Given the description of an element on the screen output the (x, y) to click on. 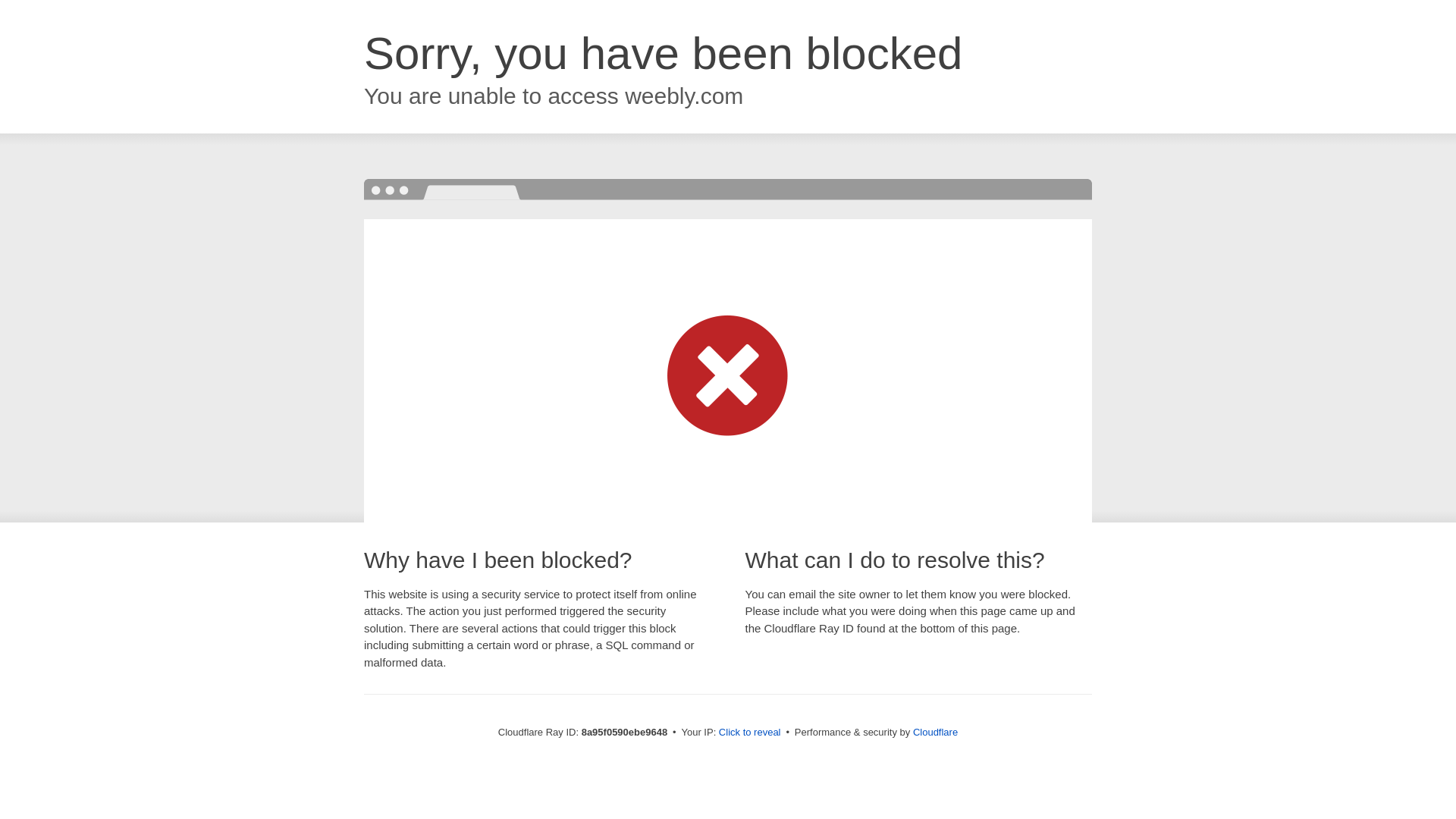
Click to reveal (749, 732)
Cloudflare (935, 731)
